Given the description of an element on the screen output the (x, y) to click on. 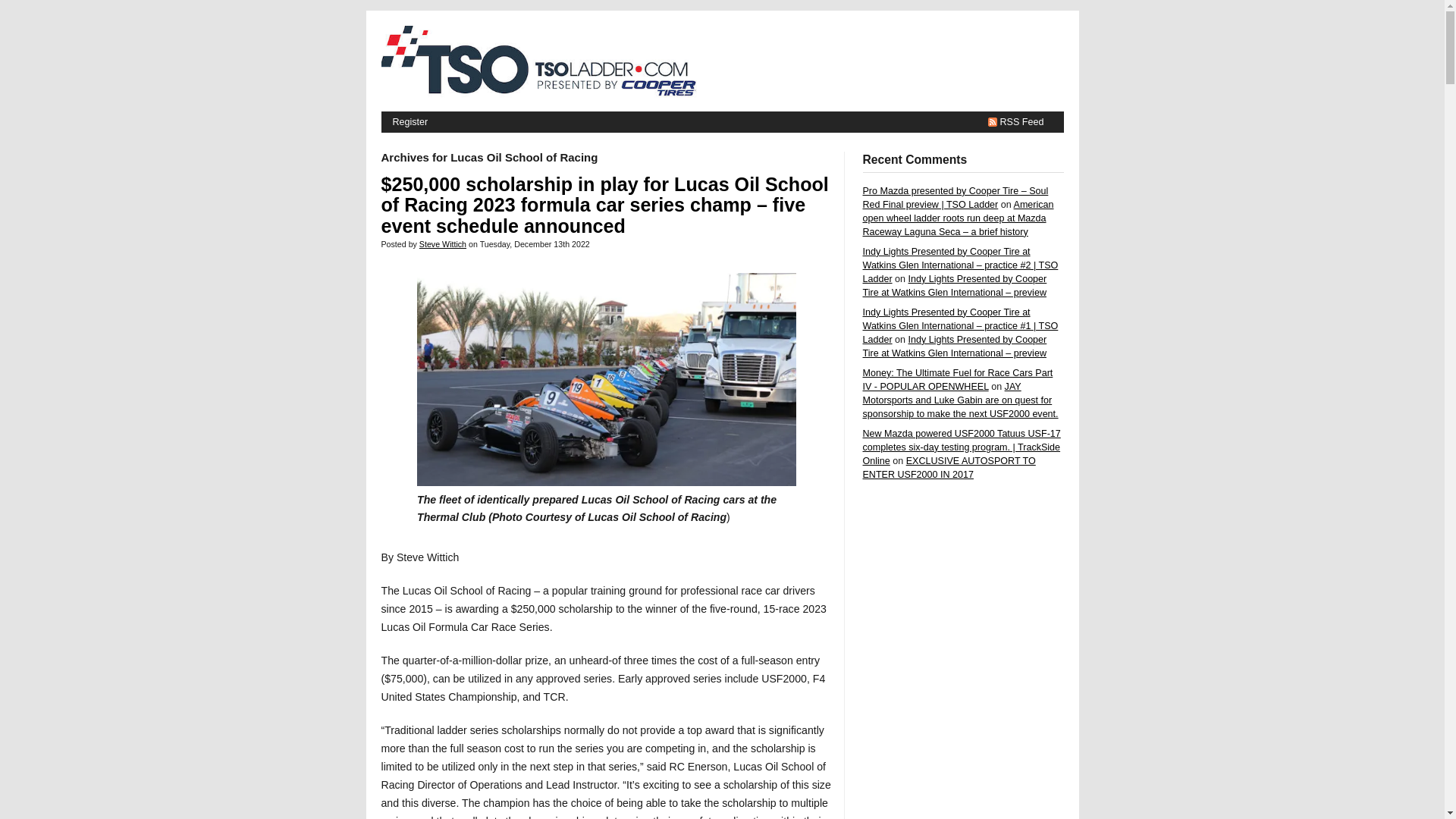
Posts by Steve Wittich (442, 243)
RSS Feed (1015, 121)
Register (409, 121)
Steve Wittich (442, 243)
